Given the description of an element on the screen output the (x, y) to click on. 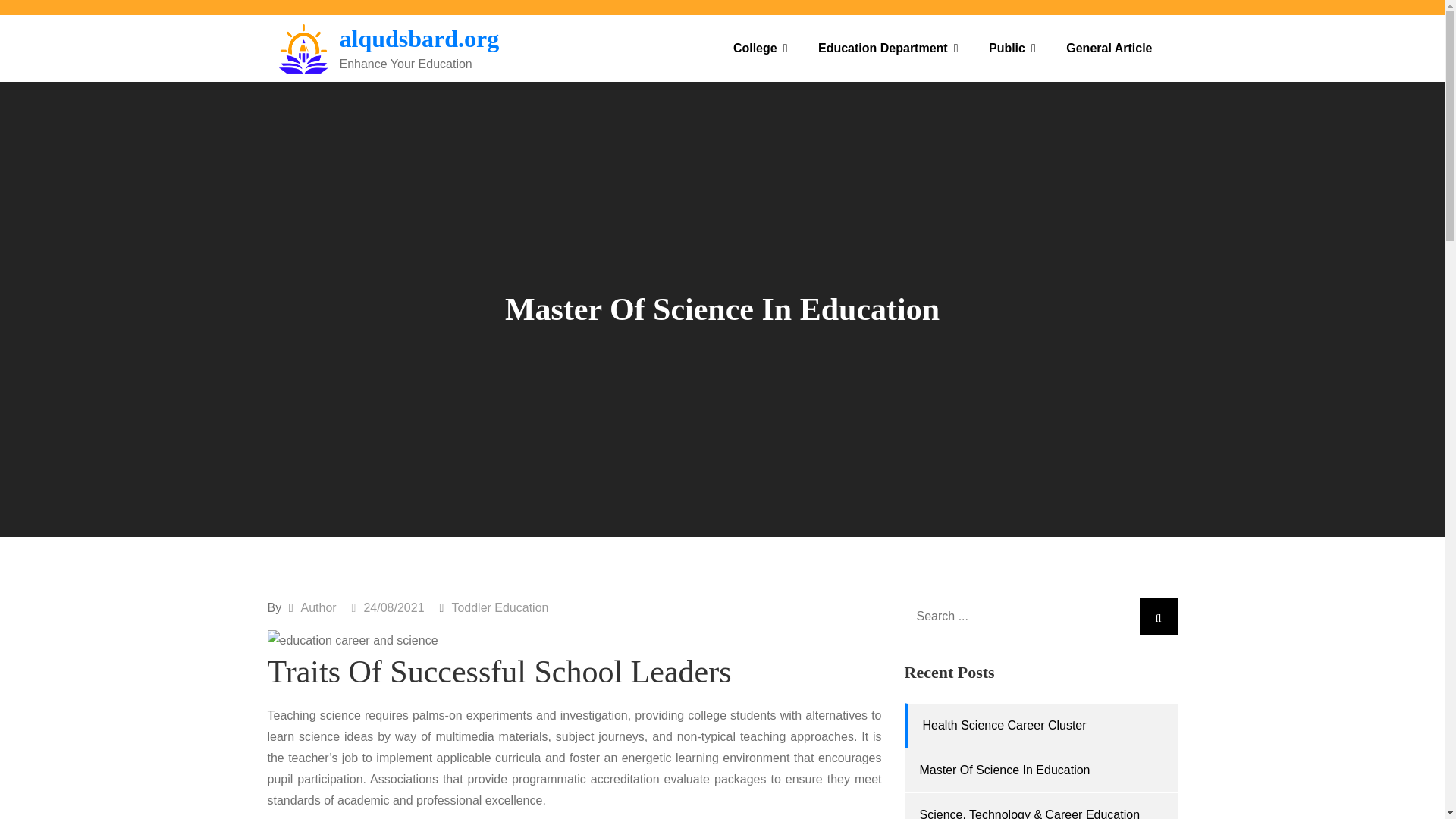
Master Of Science In Education (1003, 769)
alqudsbard.org (419, 38)
Search for: (1040, 616)
Search (1157, 616)
General Article (1109, 48)
Public (1012, 48)
Toddler Education (499, 607)
Health Science Career Cluster (1003, 725)
Author (317, 607)
Education Department (888, 48)
